Given the description of an element on the screen output the (x, y) to click on. 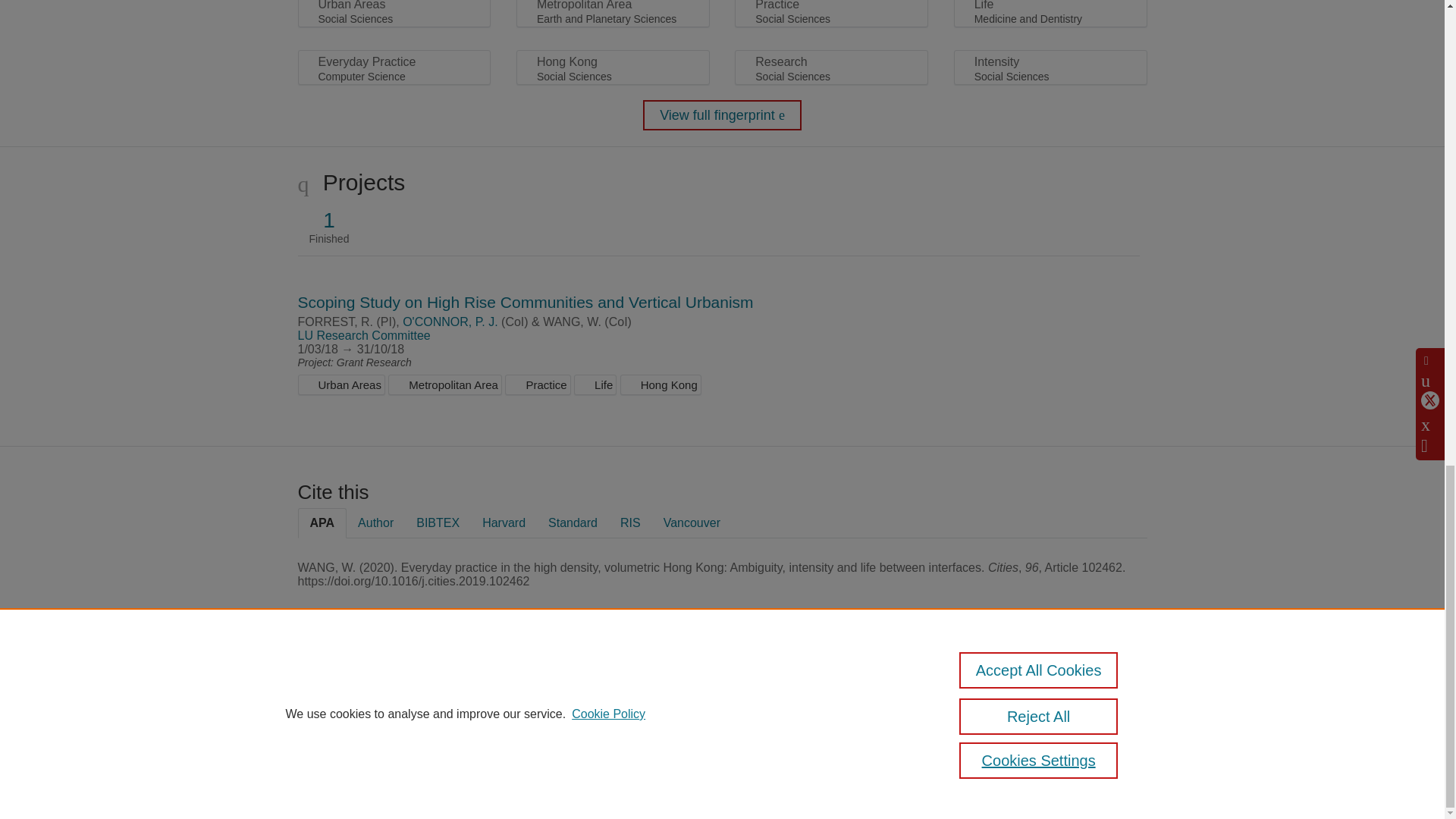
Scoping Study on High Rise Communities and Vertical Urbanism (524, 302)
1 (328, 220)
View full fingerprint (722, 114)
